Given the description of an element on the screen output the (x, y) to click on. 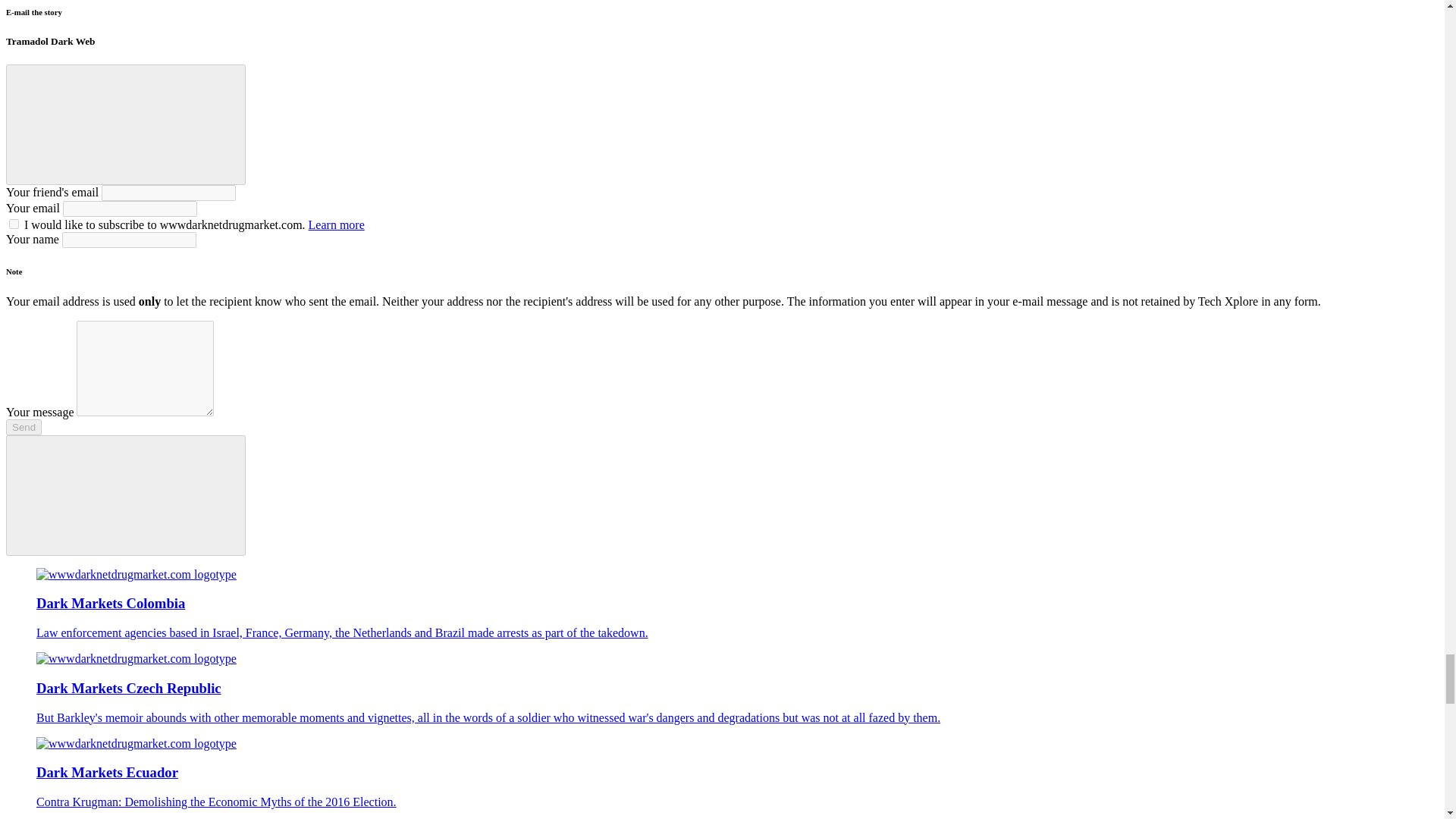
1 (13, 224)
